Given the description of an element on the screen output the (x, y) to click on. 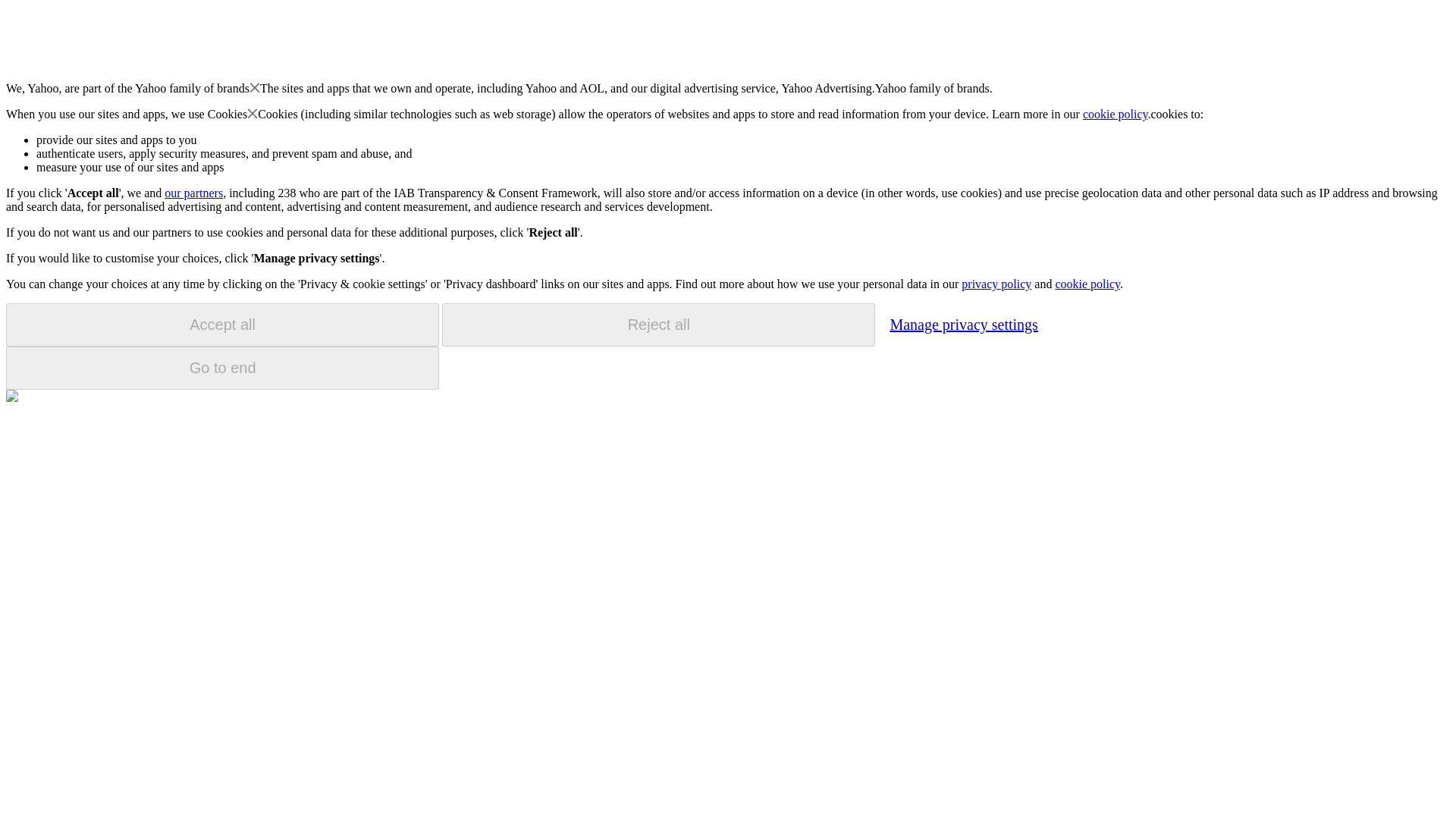
Manage privacy settings (963, 323)
cookie policy (1115, 113)
cookie policy (1086, 283)
Reject all (658, 324)
Accept all (222, 324)
our partners (193, 192)
Go to end (222, 367)
privacy policy (995, 283)
